Given the description of an element on the screen output the (x, y) to click on. 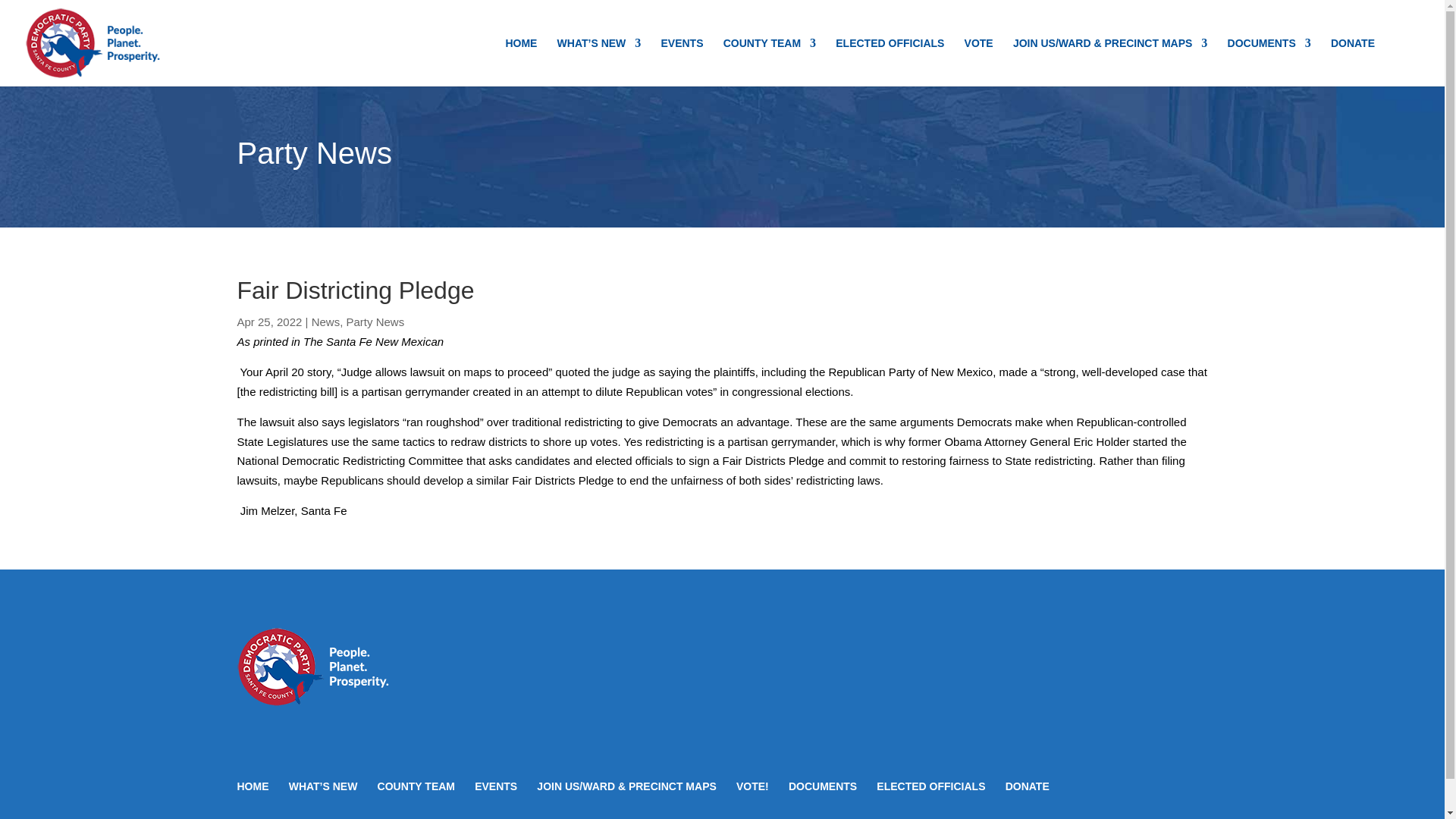
COUNTY TEAM (769, 61)
DOCUMENTS (1269, 61)
ELECTED OFFICIALS (889, 61)
DONATE (1352, 61)
